Given the description of an element on the screen output the (x, y) to click on. 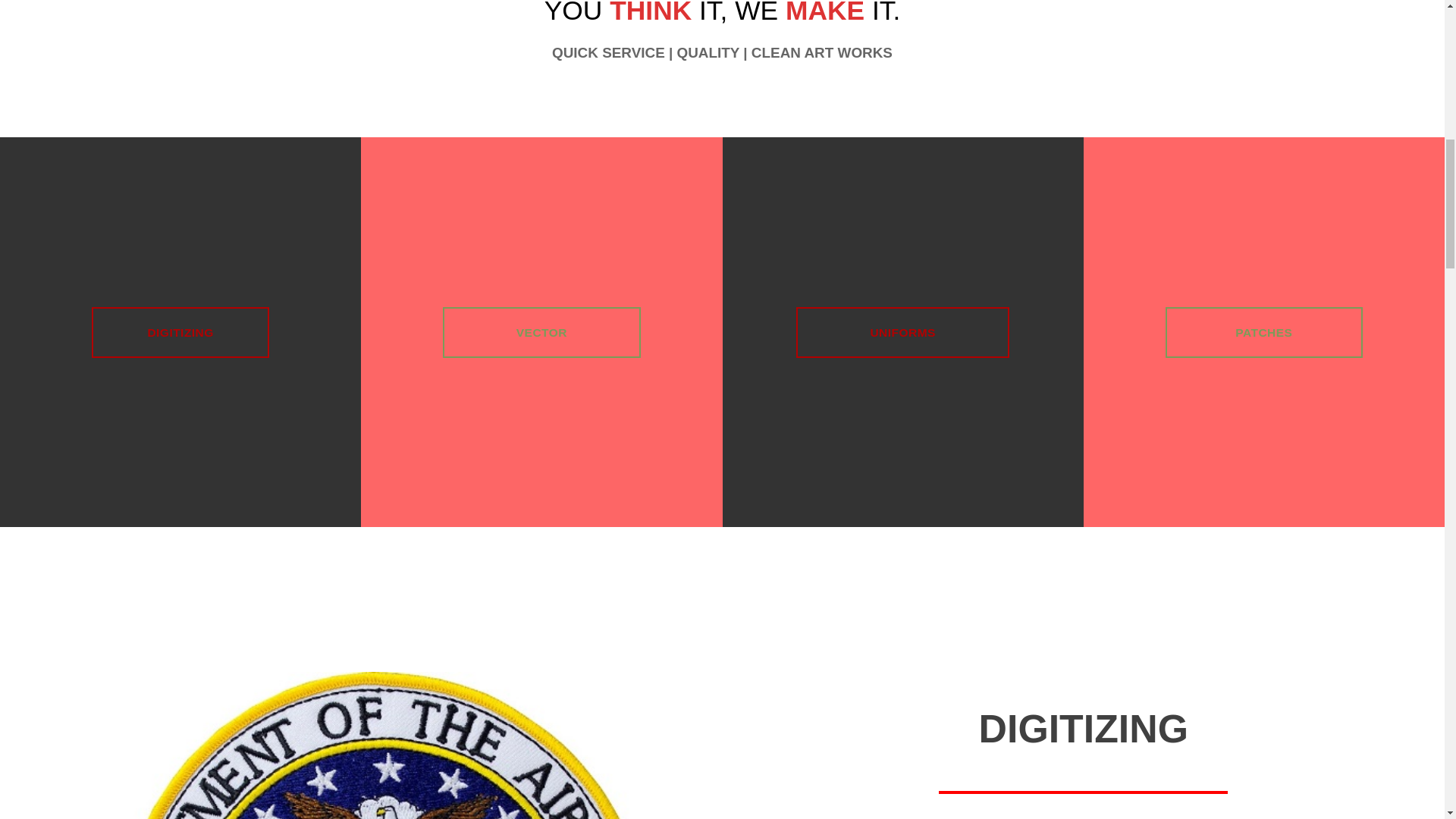
VECTOR (542, 332)
DIGITIZING (180, 332)
UNIFORMS (902, 332)
PATCHES (1264, 332)
